Given the description of an element on the screen output the (x, y) to click on. 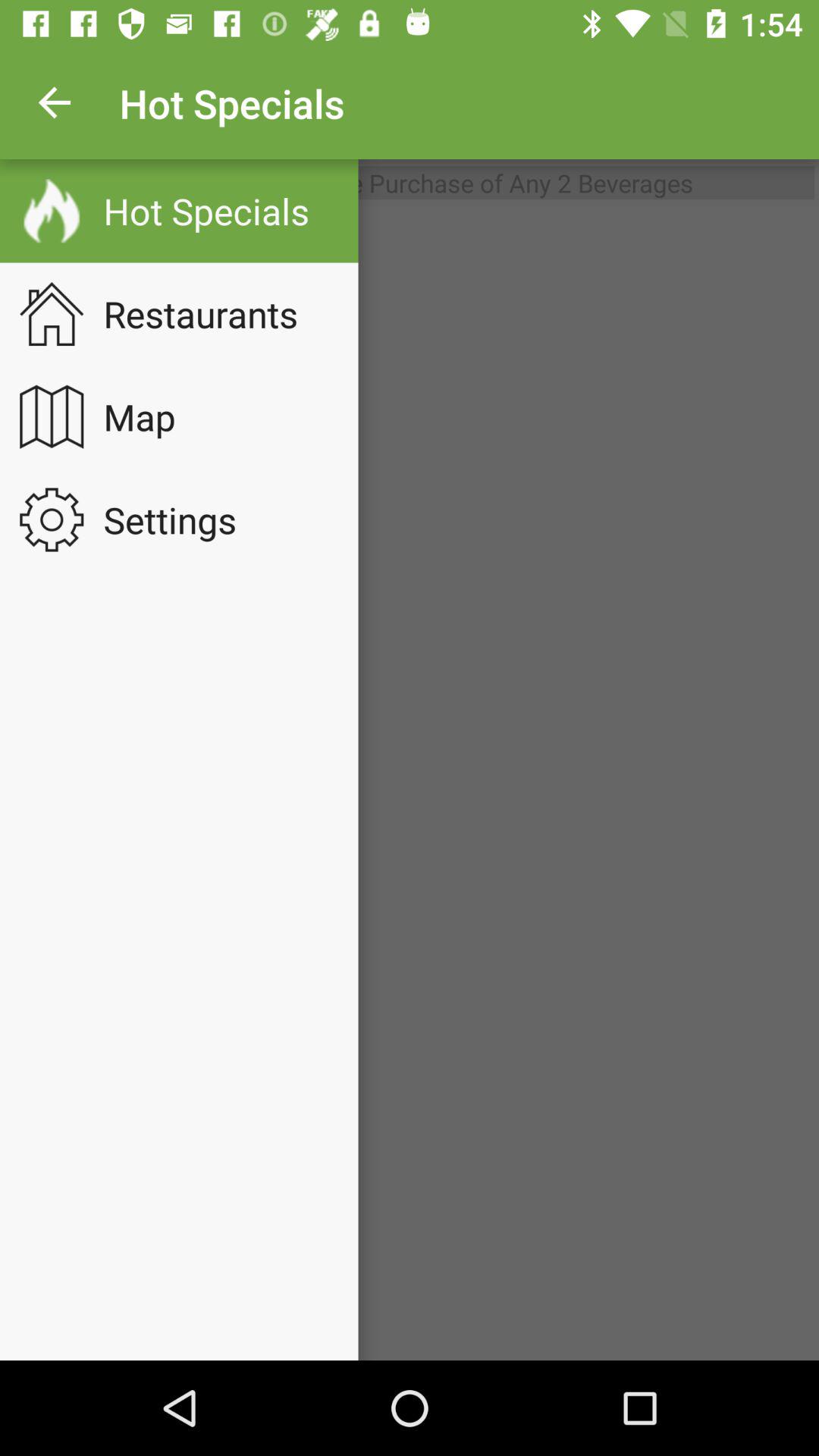
scroll until map item (149, 416)
